Given the description of an element on the screen output the (x, y) to click on. 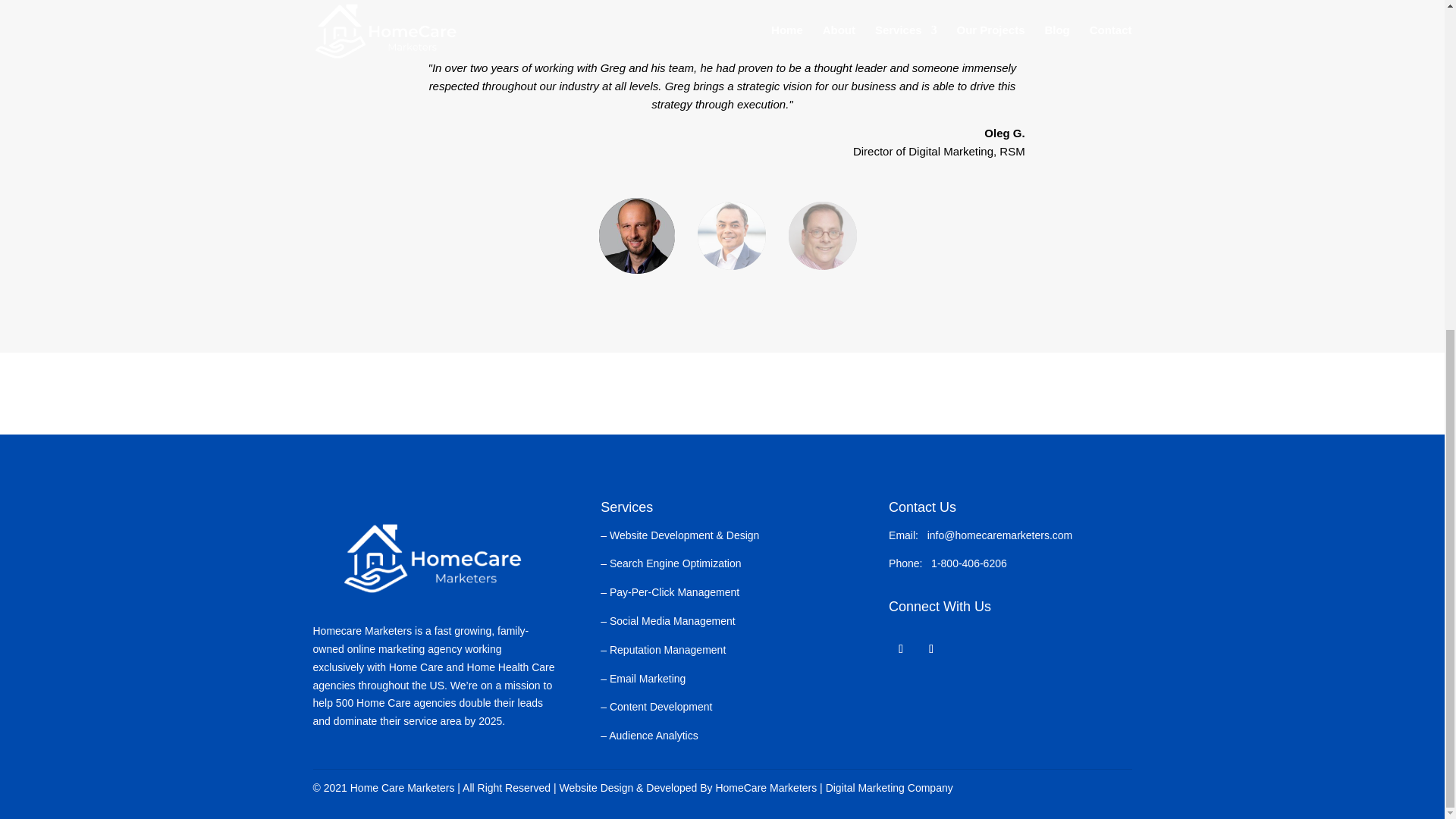
Follow on LinkedIn (930, 648)
logo-white-01 (434, 560)
Follow on Facebook (900, 648)
